Given the description of an element on the screen output the (x, y) to click on. 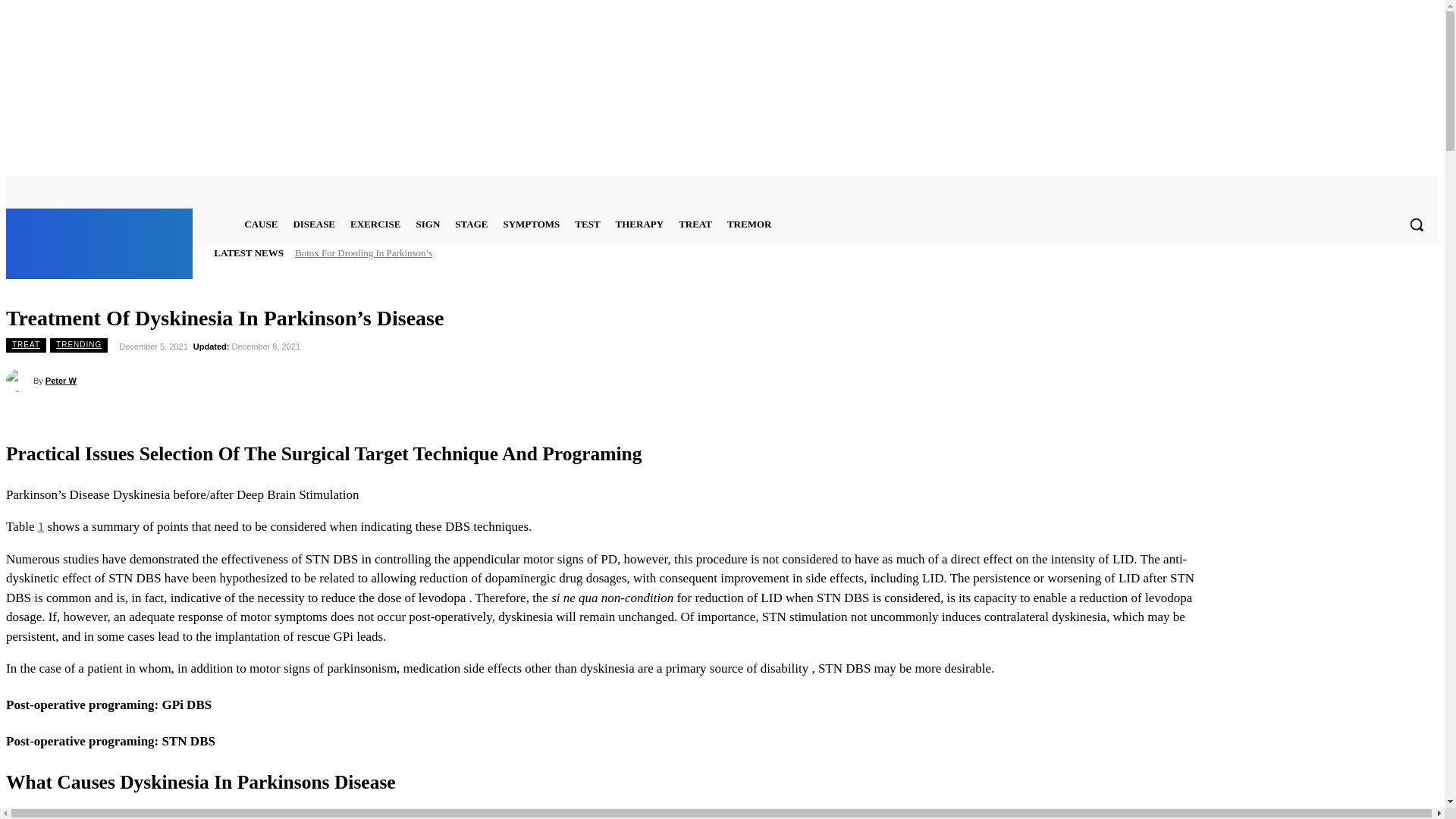
Facebook (1370, 189)
